Given the description of an element on the screen output the (x, y) to click on. 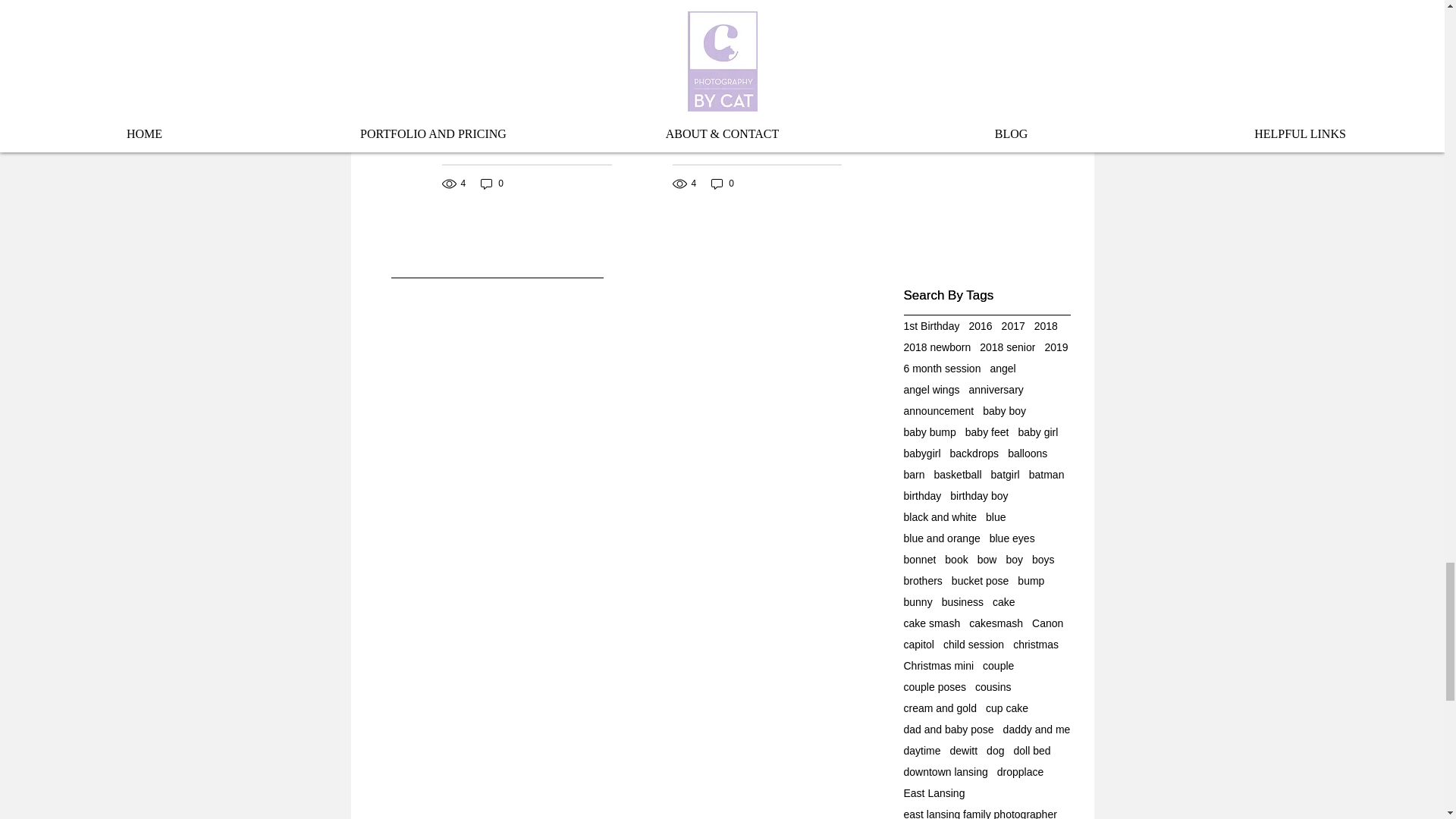
0 (492, 183)
0 (722, 183)
